Given the description of an element on the screen output the (x, y) to click on. 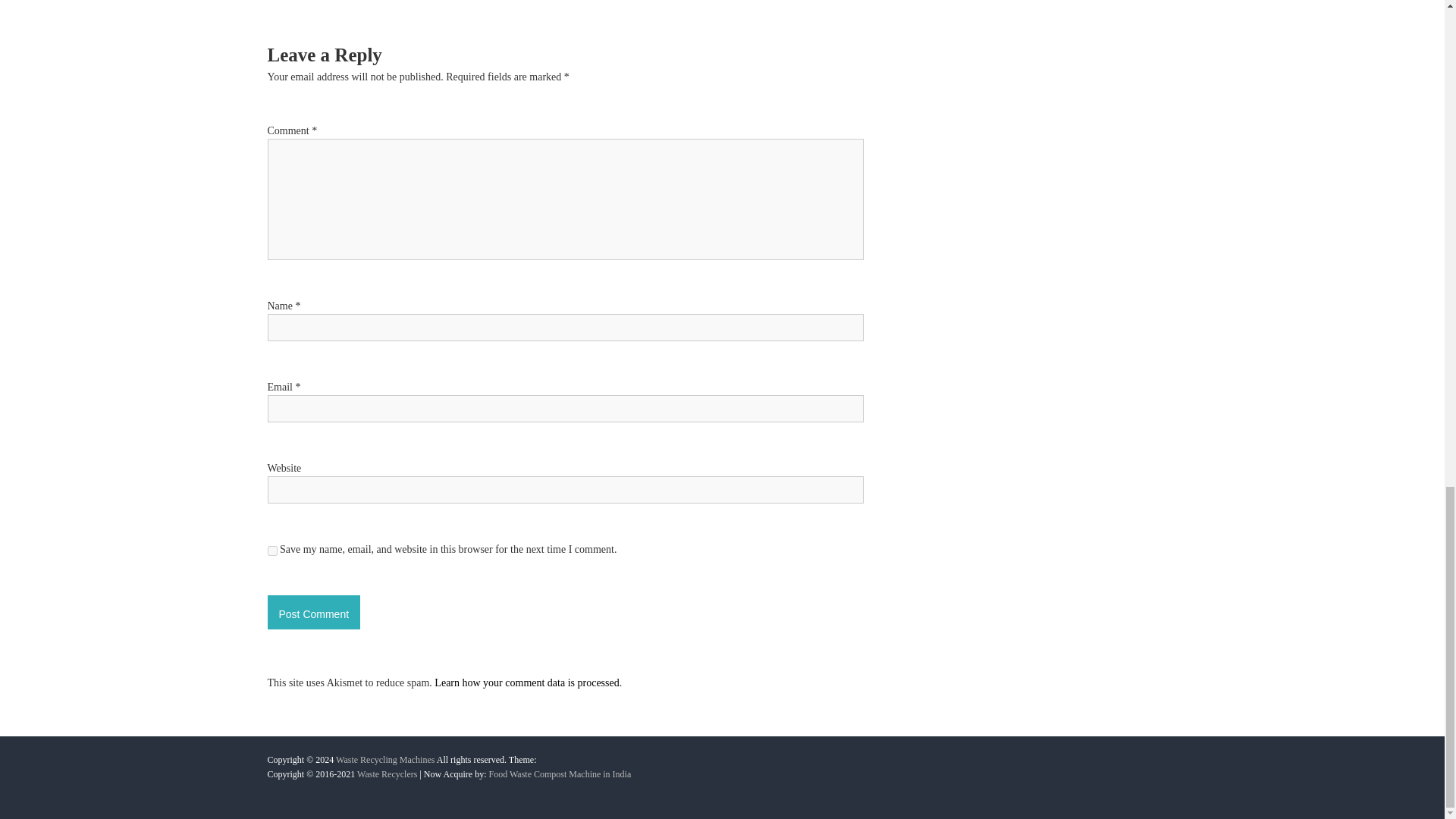
Waste Recyclers (386, 774)
Food Waste Compost Machine in India (558, 774)
Post Comment (312, 612)
Learn how your comment data is processed (525, 682)
Waste Recycling Machines (384, 759)
yes (271, 551)
Food Waste Compost Machine in India (558, 774)
Post Comment (312, 612)
